Given the description of an element on the screen output the (x, y) to click on. 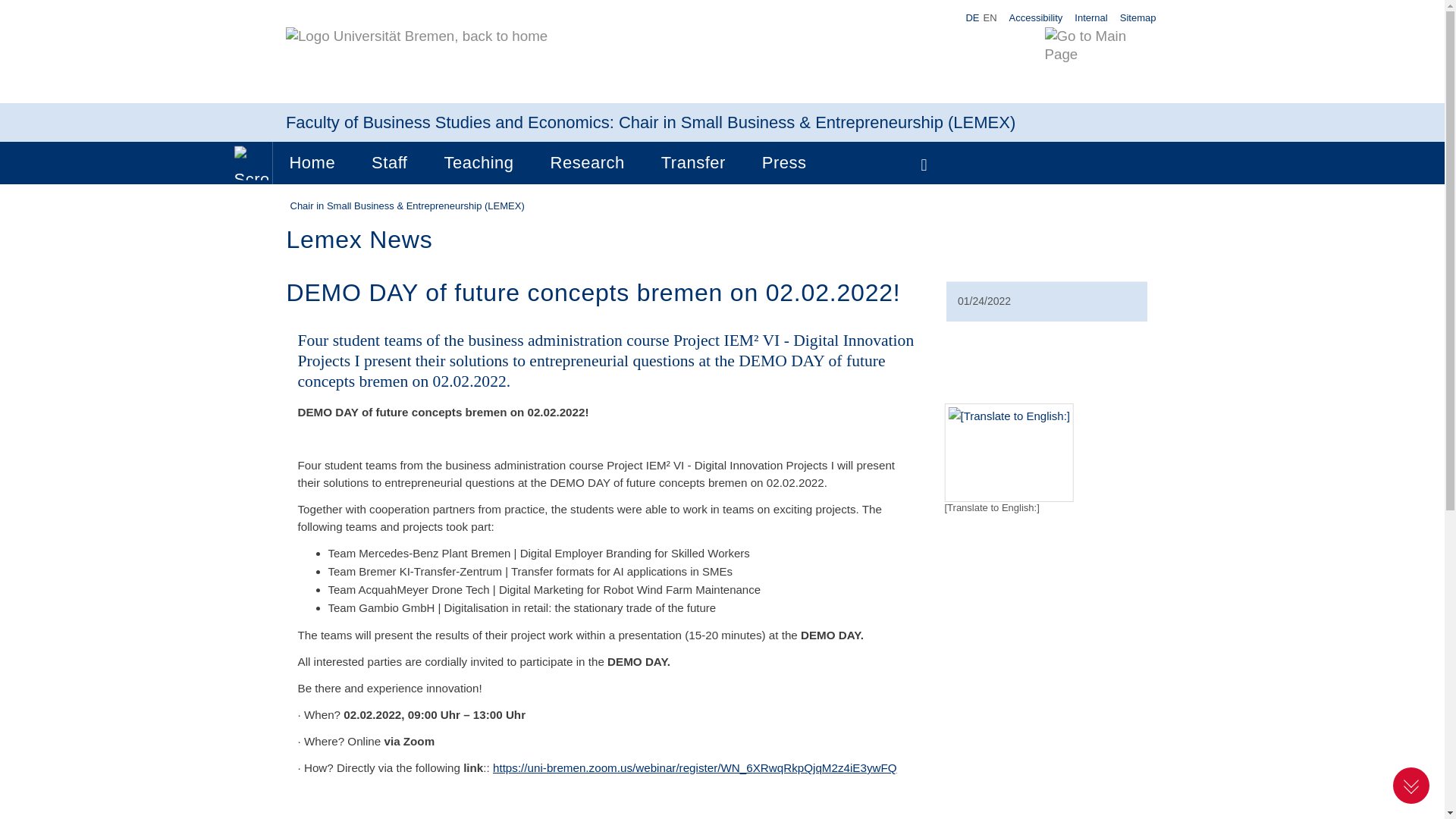
Staff (389, 162)
Transfer (693, 162)
Scroll to the bottom of the page (1411, 785)
0 (251, 162)
Home (311, 162)
Accessibility (1035, 16)
Internal (1090, 16)
Sitemap (1137, 16)
Press (784, 162)
Faculty of Business Studies and Economics (447, 122)
Teaching (478, 162)
DE (971, 17)
Research (587, 162)
